Given the description of an element on the screen output the (x, y) to click on. 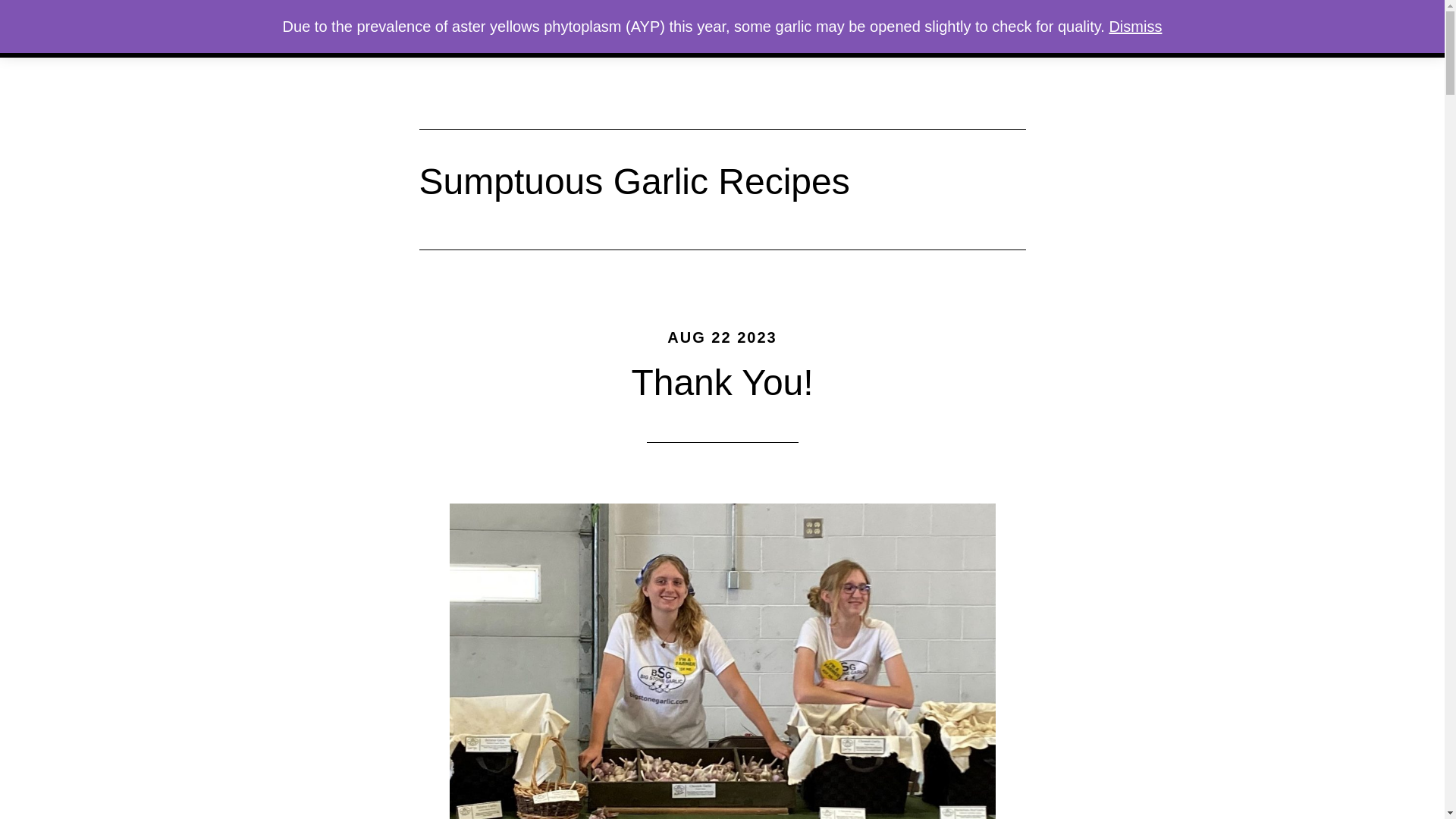
Thank You! (721, 382)
SHOP (1090, 28)
CART (1149, 28)
BIG STONE GARLIC (365, 27)
SUMPTUOUS GARLIC RECIPES (957, 28)
ABOUT US (713, 28)
FARM NEWS (806, 28)
